Given the description of an element on the screen output the (x, y) to click on. 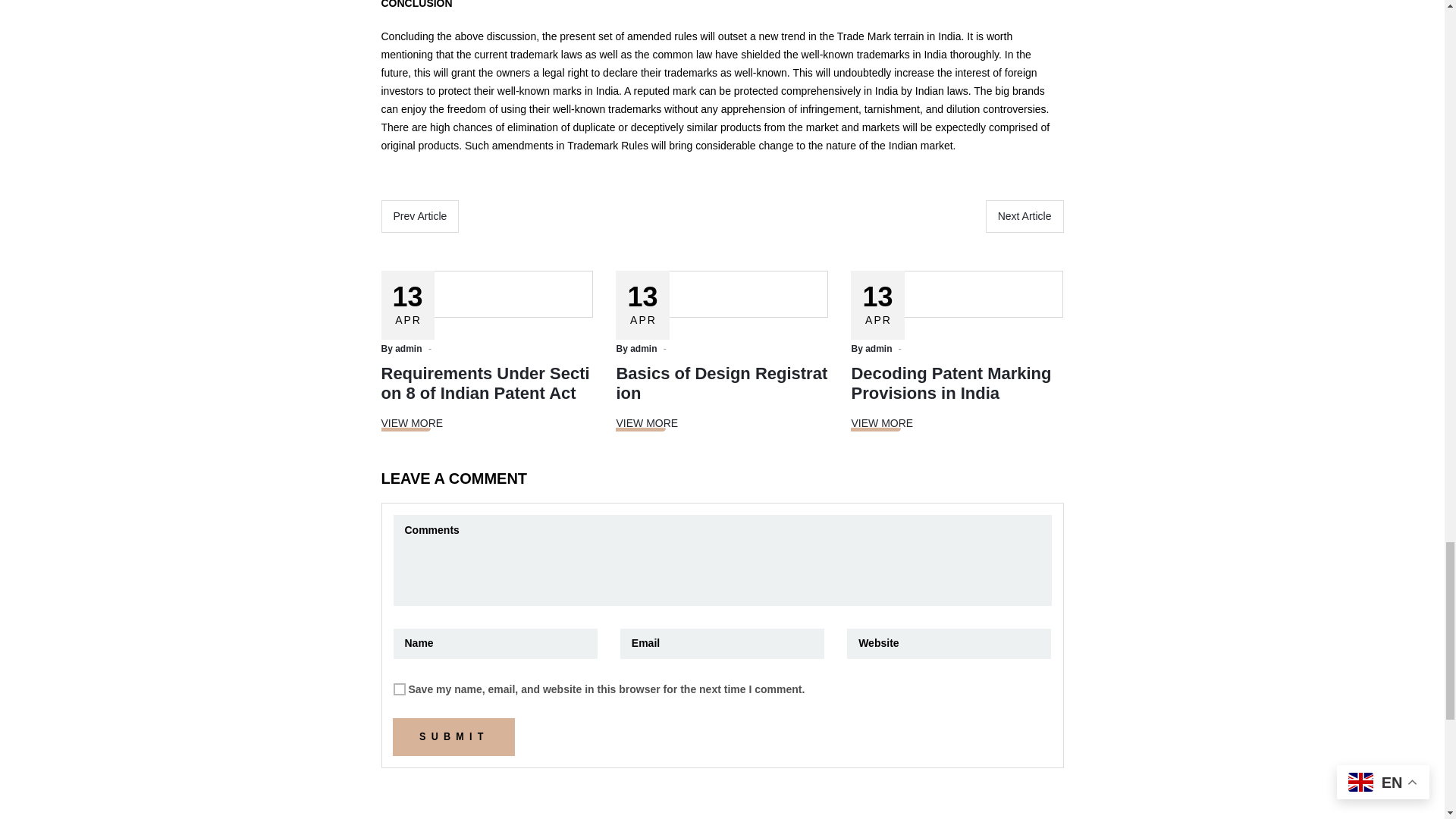
Basics of Design Registration (721, 382)
admin (643, 348)
Read More (881, 423)
SUBMIT (454, 736)
VIEW MORE (881, 423)
admin (877, 348)
Read More (646, 423)
Requirements Under Section 8 of Indian Patent Act (484, 382)
Prev Article (419, 215)
Decoding Patent Marking Provisions in India (950, 382)
admin (408, 348)
Next Article (1024, 215)
VIEW MORE (411, 423)
VIEW MORE (646, 423)
Read More (411, 423)
